Given the description of an element on the screen output the (x, y) to click on. 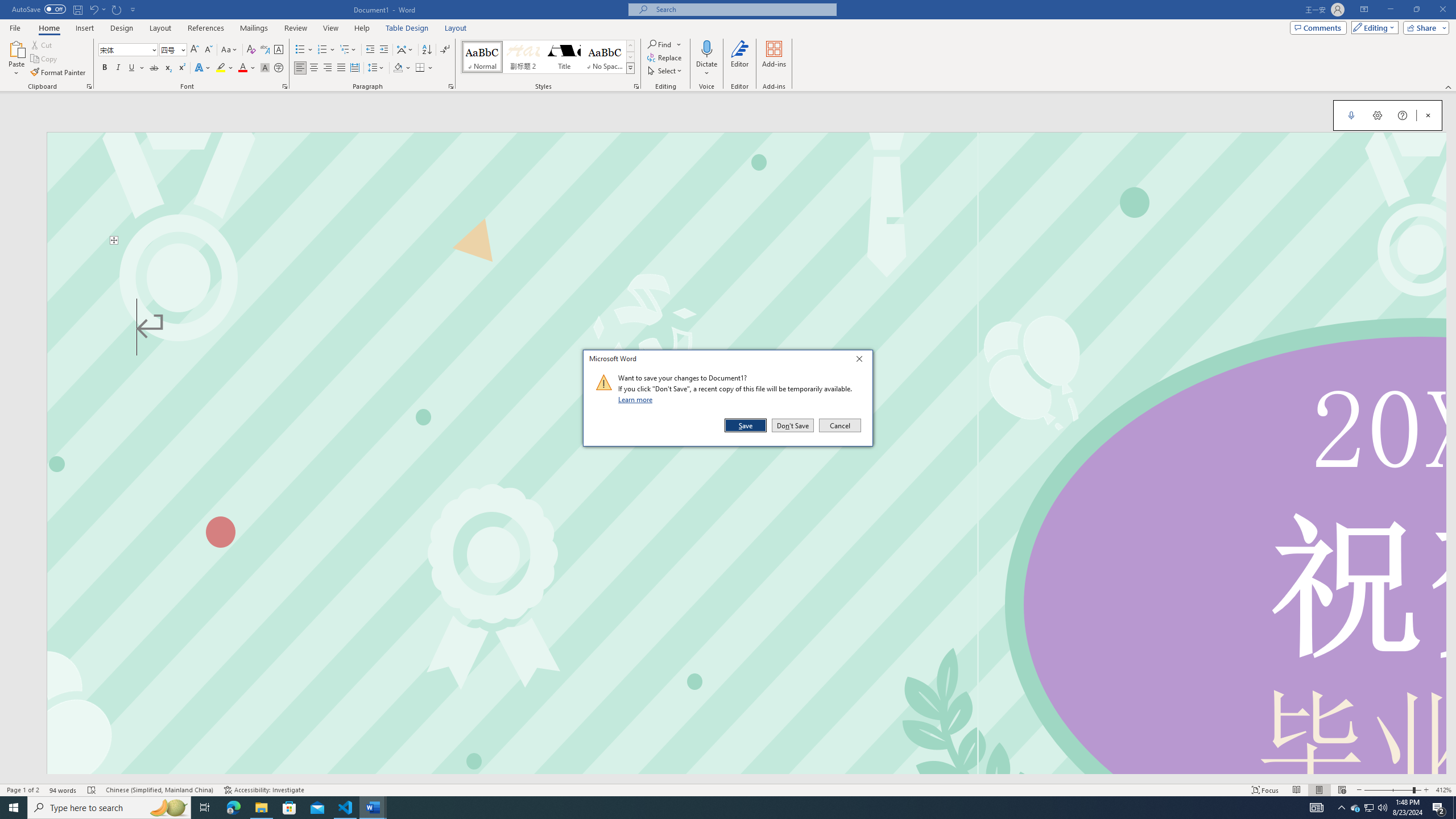
Undo Text Fill Effect (92, 9)
Running applications (717, 807)
